Given the description of an element on the screen output the (x, y) to click on. 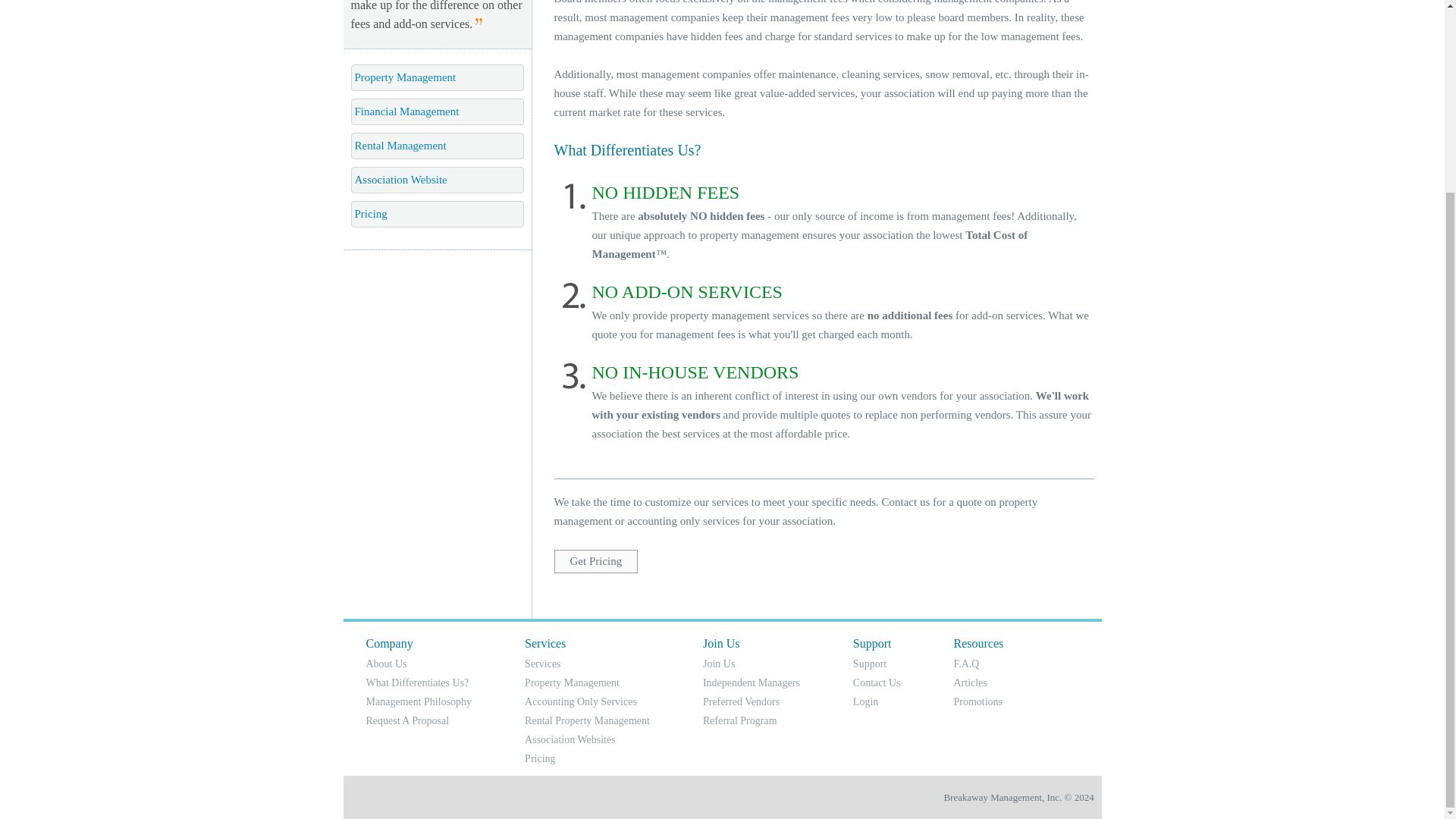
Get Pricing (595, 560)
Contact Us (877, 681)
Promotions (978, 701)
Referral Program (740, 719)
Login (865, 701)
Request A Proposal (406, 719)
Preferred Vendors (740, 701)
Pricing (436, 213)
Property Management (572, 681)
Rental Property Management (586, 719)
About Us (385, 663)
Join Us (719, 663)
Financial Management (436, 111)
Independent Managers (751, 681)
What Differentiates Us? (416, 681)
